Given the description of an element on the screen output the (x, y) to click on. 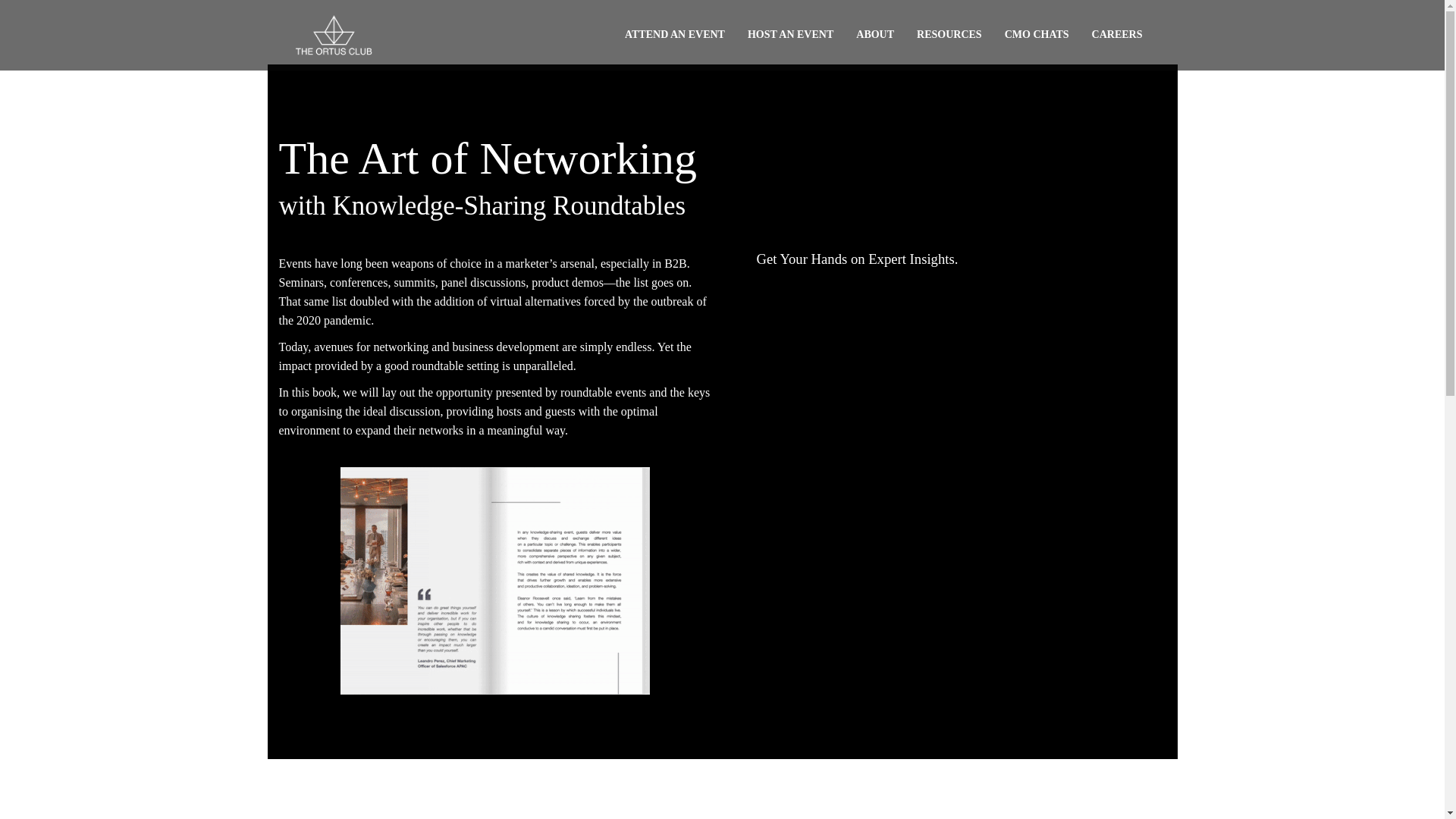
CMO CHATS (1036, 34)
About (874, 34)
RESOURCES (948, 34)
Resources (948, 34)
ATTEND AN EVENT (674, 34)
ABOUT (874, 34)
Attend an Event (674, 34)
CAREERS (1117, 34)
Host an Event (790, 34)
HOST AN EVENT (790, 34)
